Given the description of an element on the screen output the (x, y) to click on. 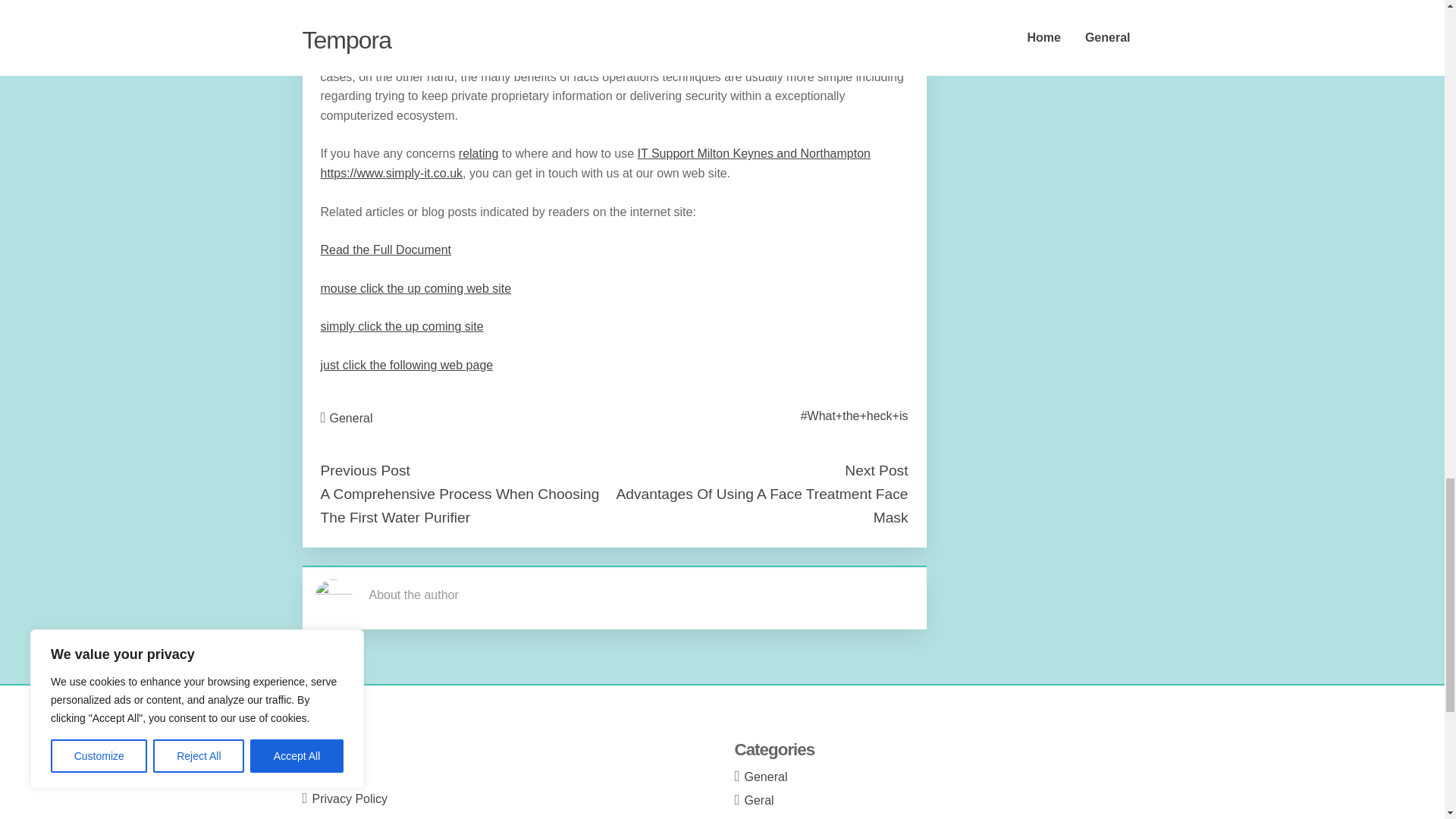
General (351, 418)
mouse click the up coming web site (415, 287)
Read the Full Document (385, 249)
simply click the up coming site (401, 326)
Advantages Of Using A Face Treatment Face Mask (761, 505)
relating (477, 153)
Next Post (875, 470)
Previous Post (364, 470)
just click the following web page (406, 364)
